Given the description of an element on the screen output the (x, y) to click on. 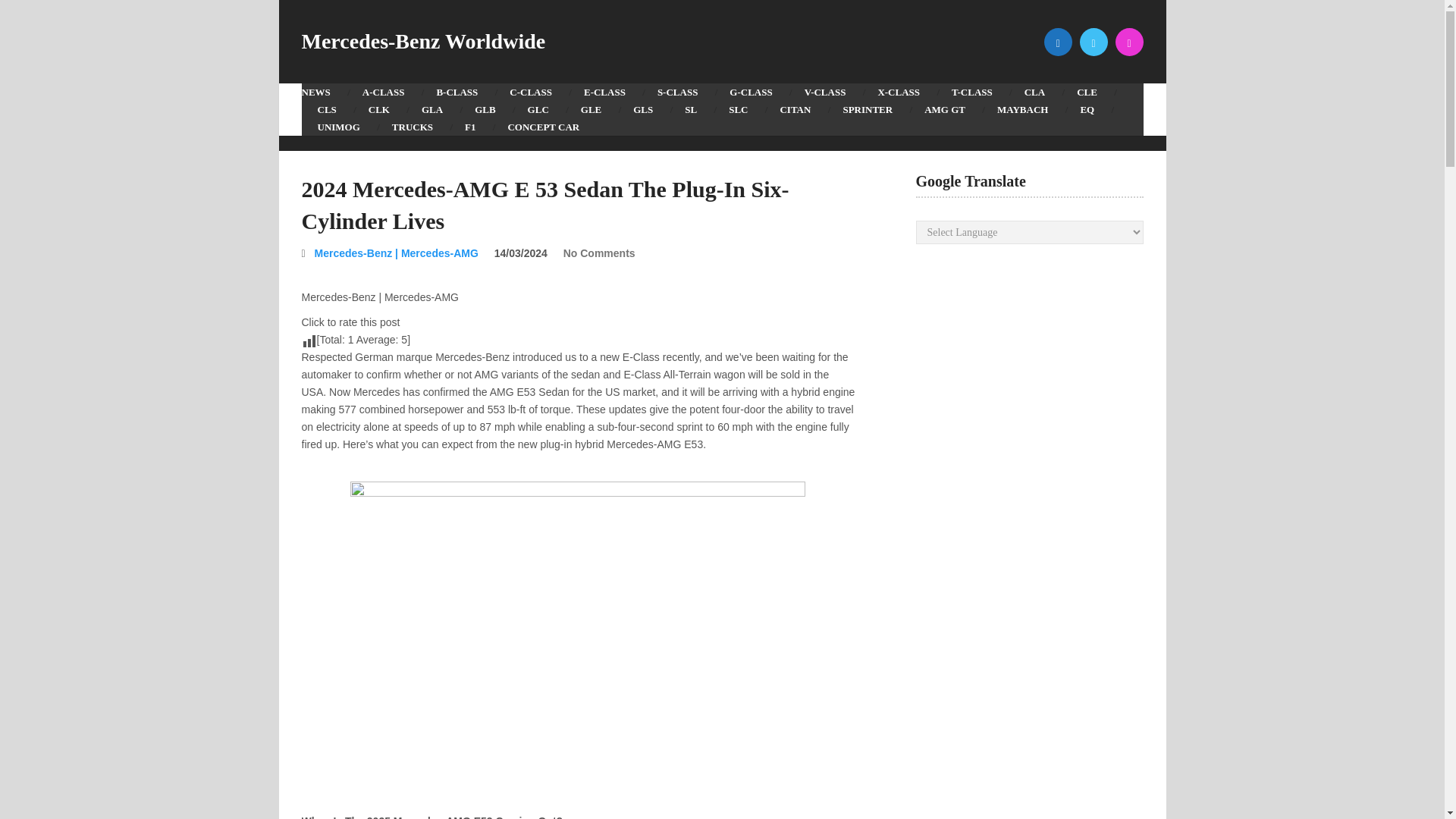
S-CLASS (677, 91)
CLE-Class (1087, 91)
GLB (484, 108)
CLS (326, 108)
CLE (1087, 91)
SPRINTER (867, 108)
A-Class (383, 91)
C-CLASS (530, 91)
V-CLASS (825, 91)
GLE (590, 108)
